Given the description of an element on the screen output the (x, y) to click on. 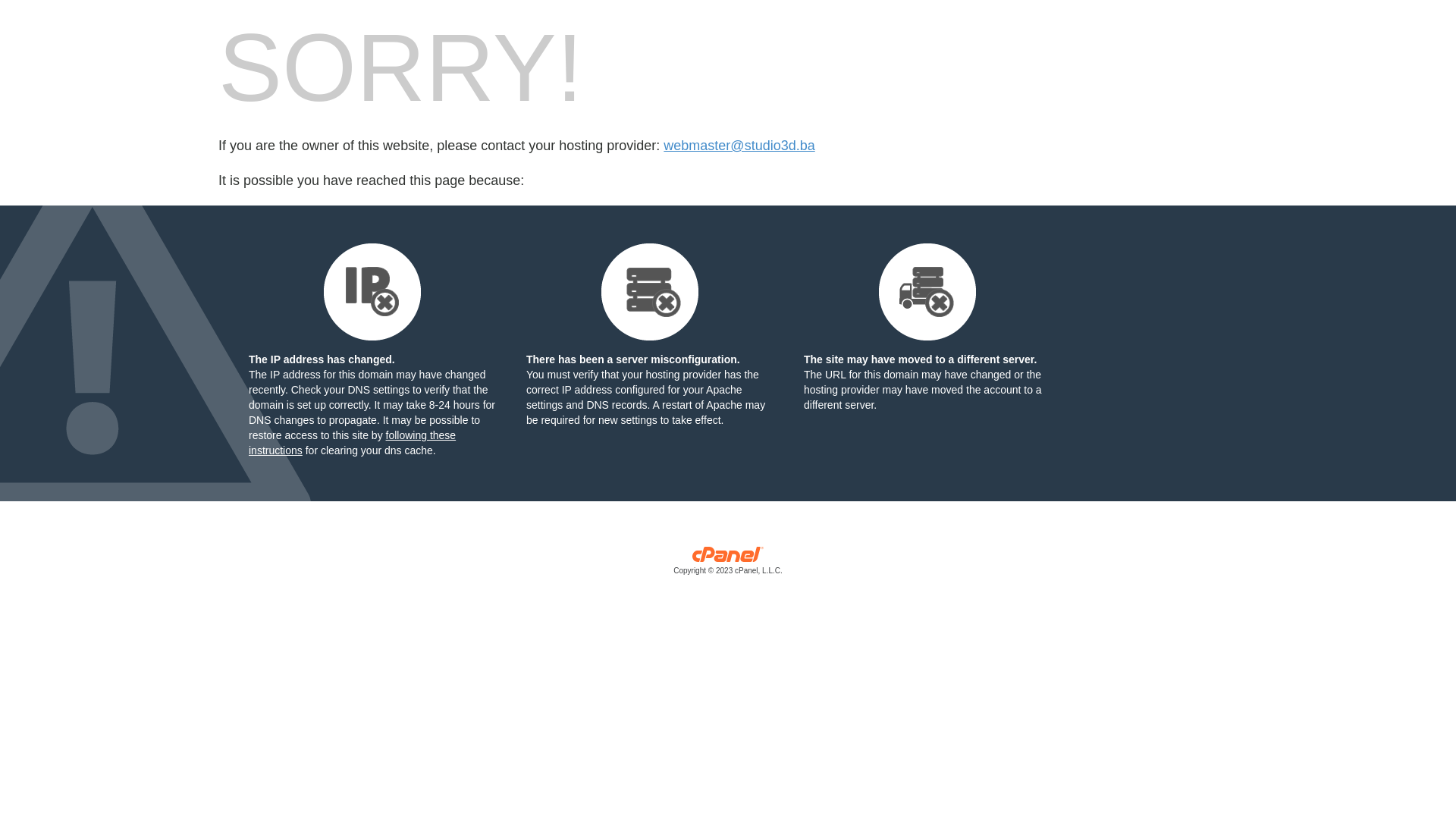
webmaster@studio3d.ba Element type: text (738, 145)
following these instructions Element type: text (351, 442)
